Given the description of an element on the screen output the (x, y) to click on. 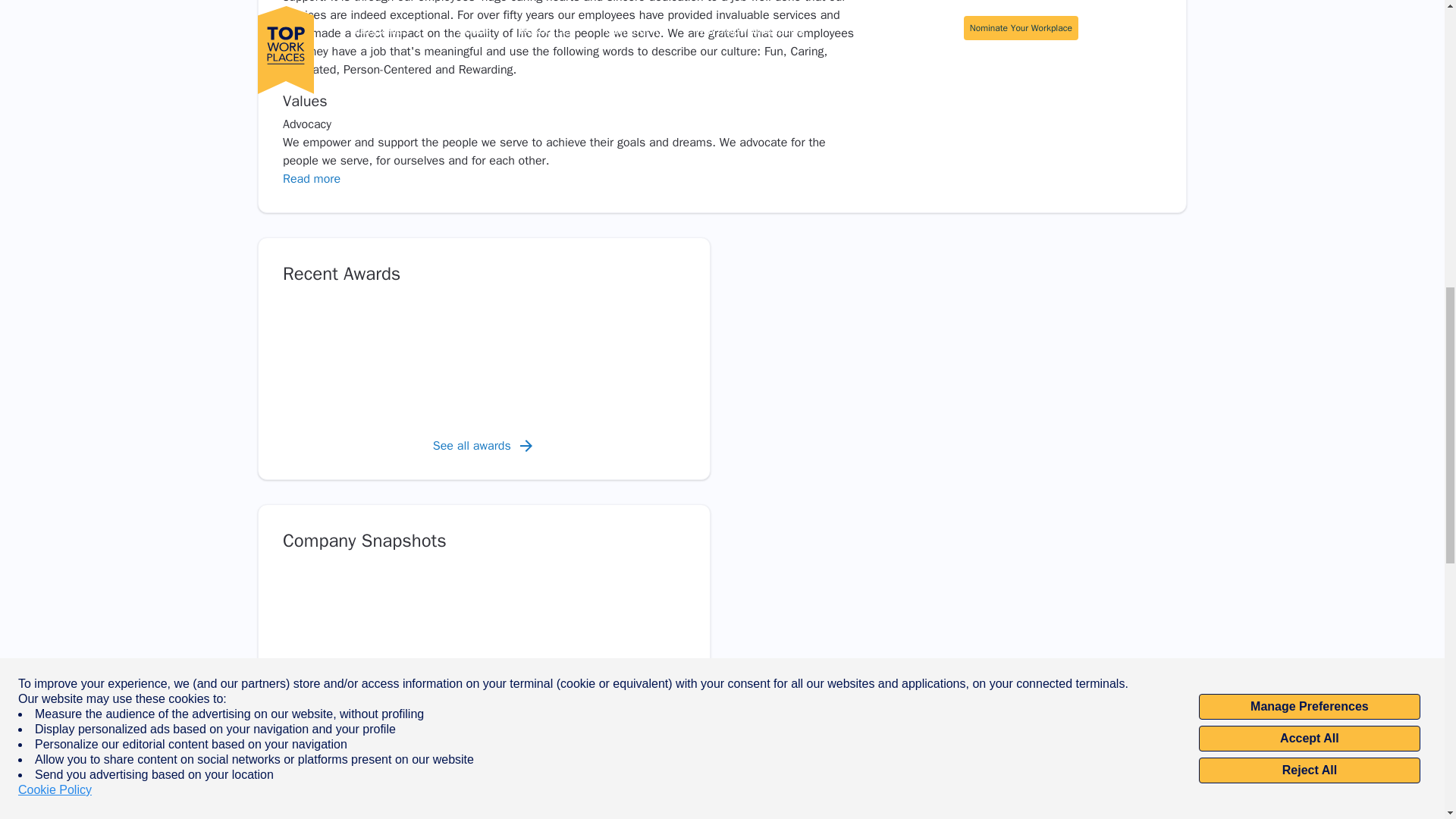
Read more (311, 178)
